Given the description of an element on the screen output the (x, y) to click on. 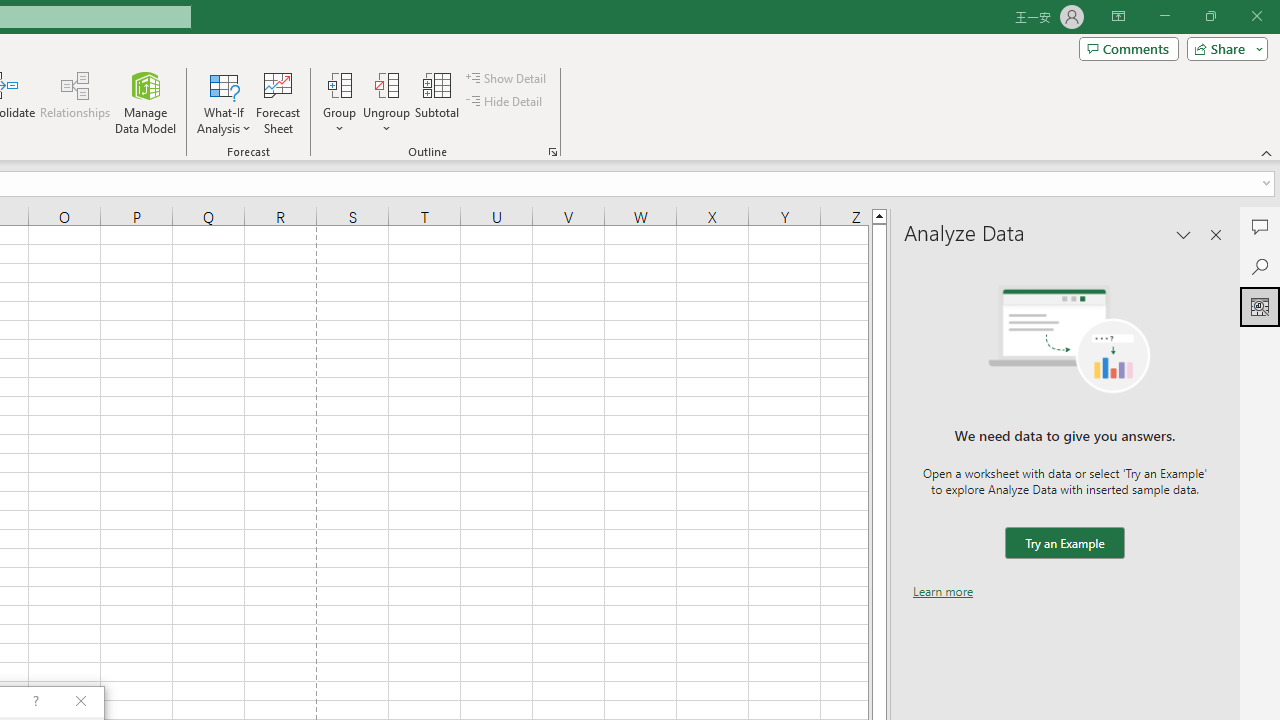
Task Pane Options (1183, 234)
Ungroup... (386, 84)
Comments (1260, 226)
Share (1223, 48)
We need data to give you answers. Try an Example (1064, 543)
Analyze Data (1260, 306)
Hide Detail (505, 101)
Forecast Sheet (278, 102)
Relationships (75, 102)
Collapse the Ribbon (1267, 152)
What-If Analysis (223, 102)
Restore Down (1210, 16)
Group and Outline Settings (552, 151)
Minimize (1164, 16)
Close (1256, 16)
